Given the description of an element on the screen output the (x, y) to click on. 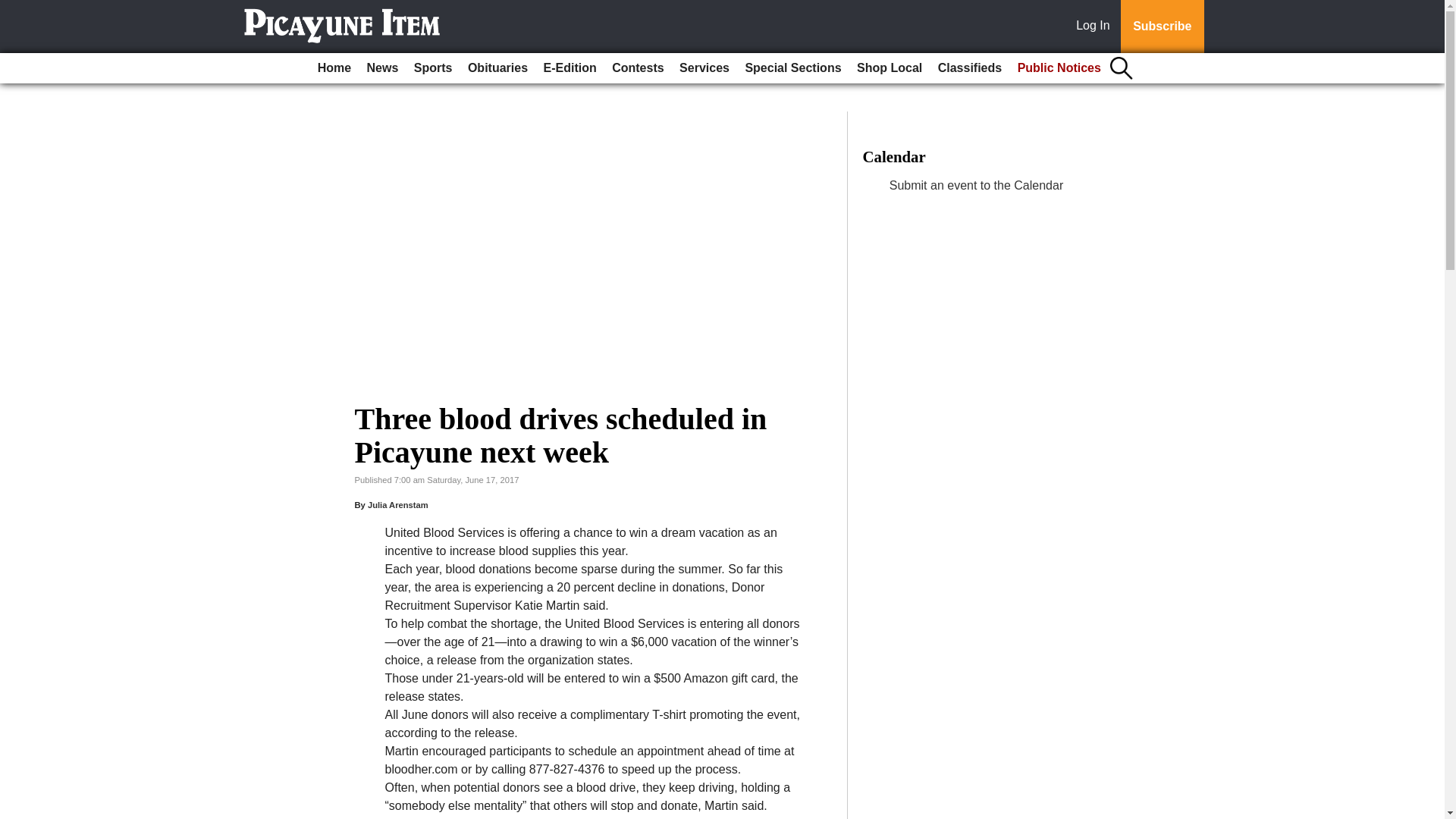
Services (703, 68)
Go (13, 9)
Submit an event to the Calendar (975, 185)
Shop Local (889, 68)
Sports (432, 68)
Classifieds (969, 68)
Log In (1095, 26)
E-Edition (569, 68)
News (382, 68)
Julia Arenstam (398, 504)
Public Notices (1058, 68)
Contests (637, 68)
Subscribe (1162, 26)
Home (333, 68)
Special Sections (792, 68)
